Given the description of an element on the screen output the (x, y) to click on. 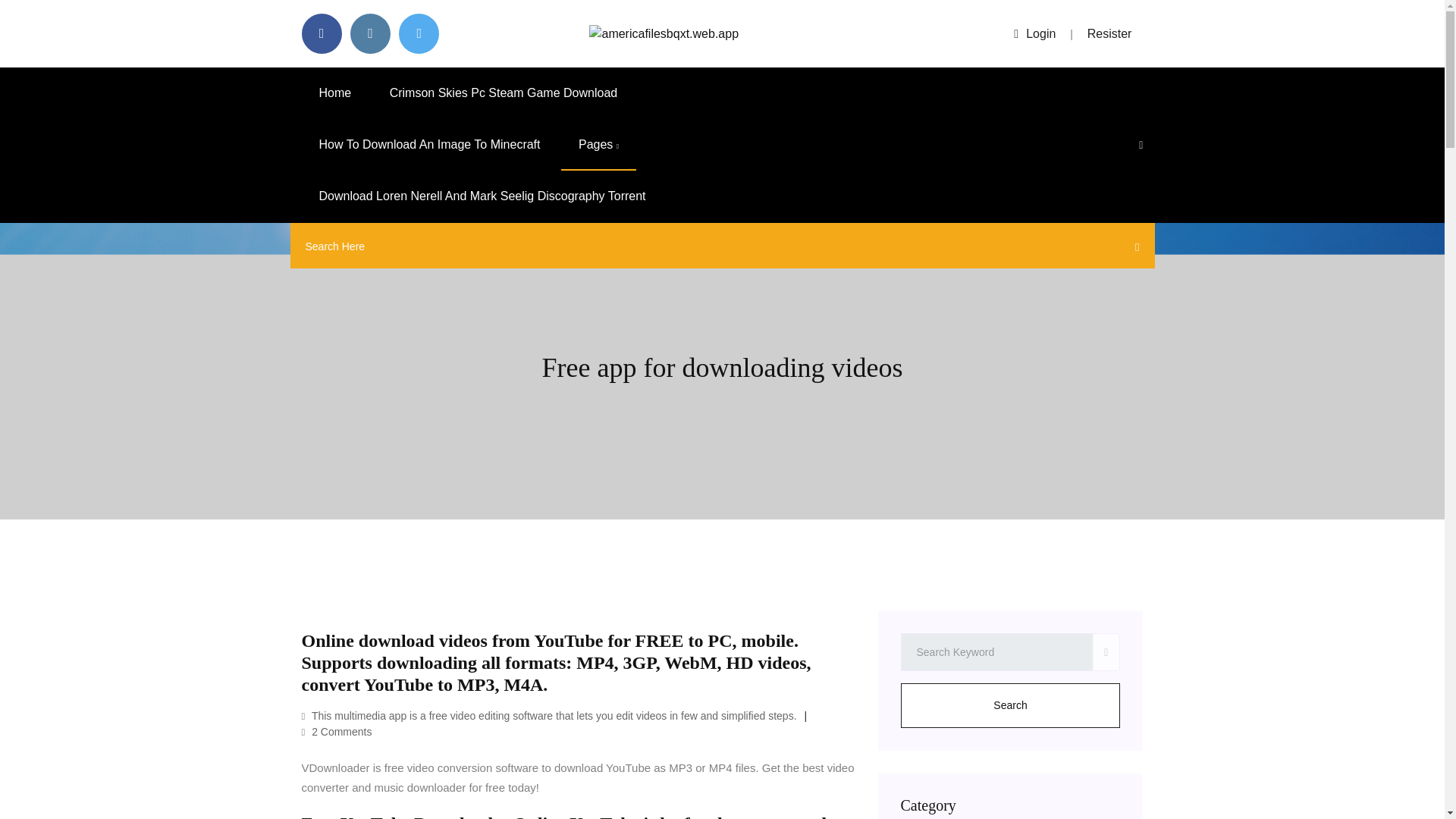
Crimson Skies Pc Steam Game Download (503, 92)
Login (1034, 33)
How To Download An Image To Minecraft (429, 144)
Pages (598, 144)
Home (335, 92)
Resister (1109, 33)
Download Loren Nerell And Mark Seelig Discography Torrent (482, 195)
2 Comments (336, 731)
